Given the description of an element on the screen output the (x, y) to click on. 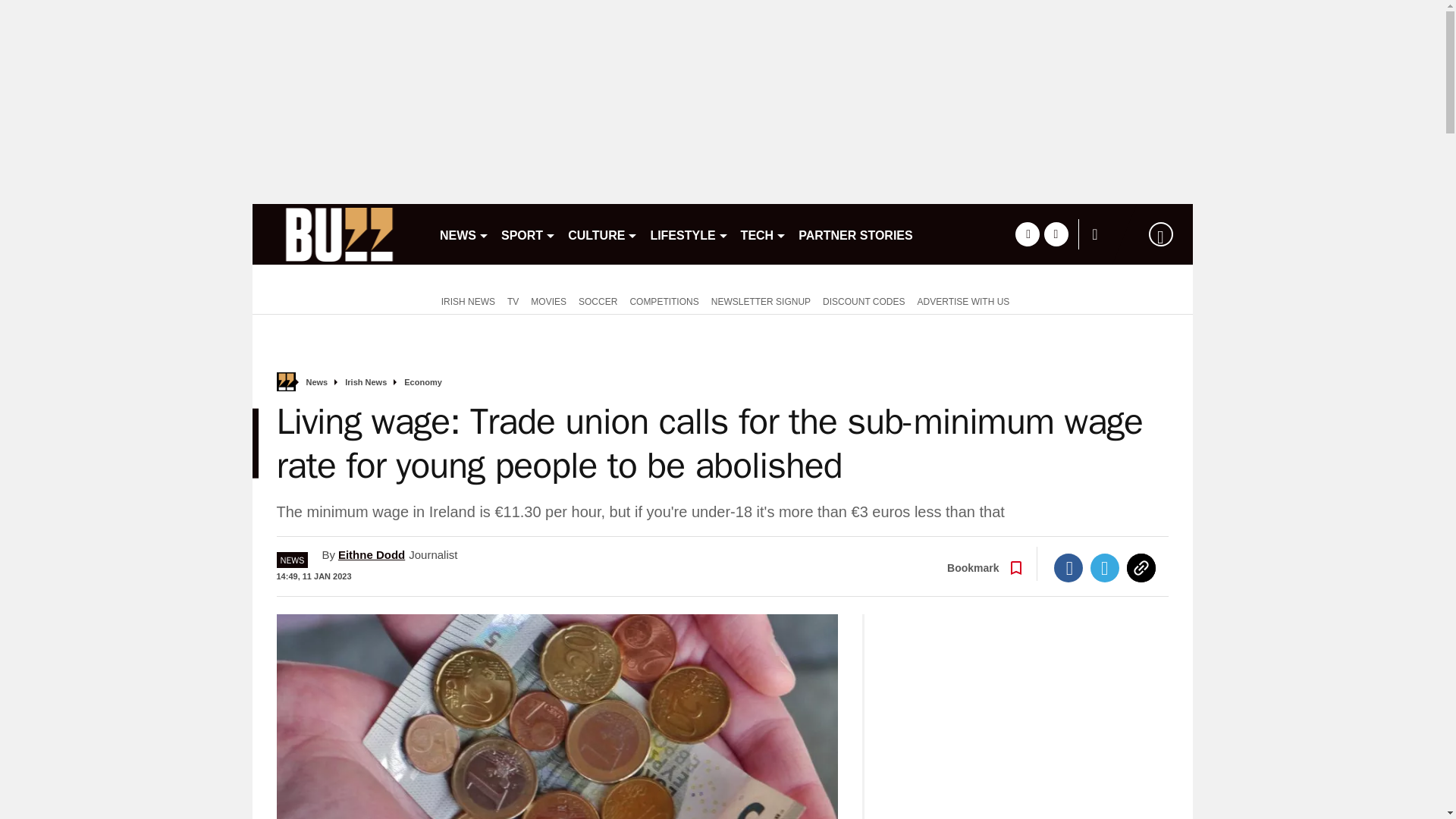
facebook (1026, 233)
NEWS (464, 233)
Twitter (1104, 567)
LIFESTYLE (688, 233)
TECH (764, 233)
PARTNER STORIES (855, 233)
SPORT (528, 233)
CULTURE (602, 233)
Facebook (1068, 567)
twitter (1055, 233)
buzz (338, 233)
